Given the description of an element on the screen output the (x, y) to click on. 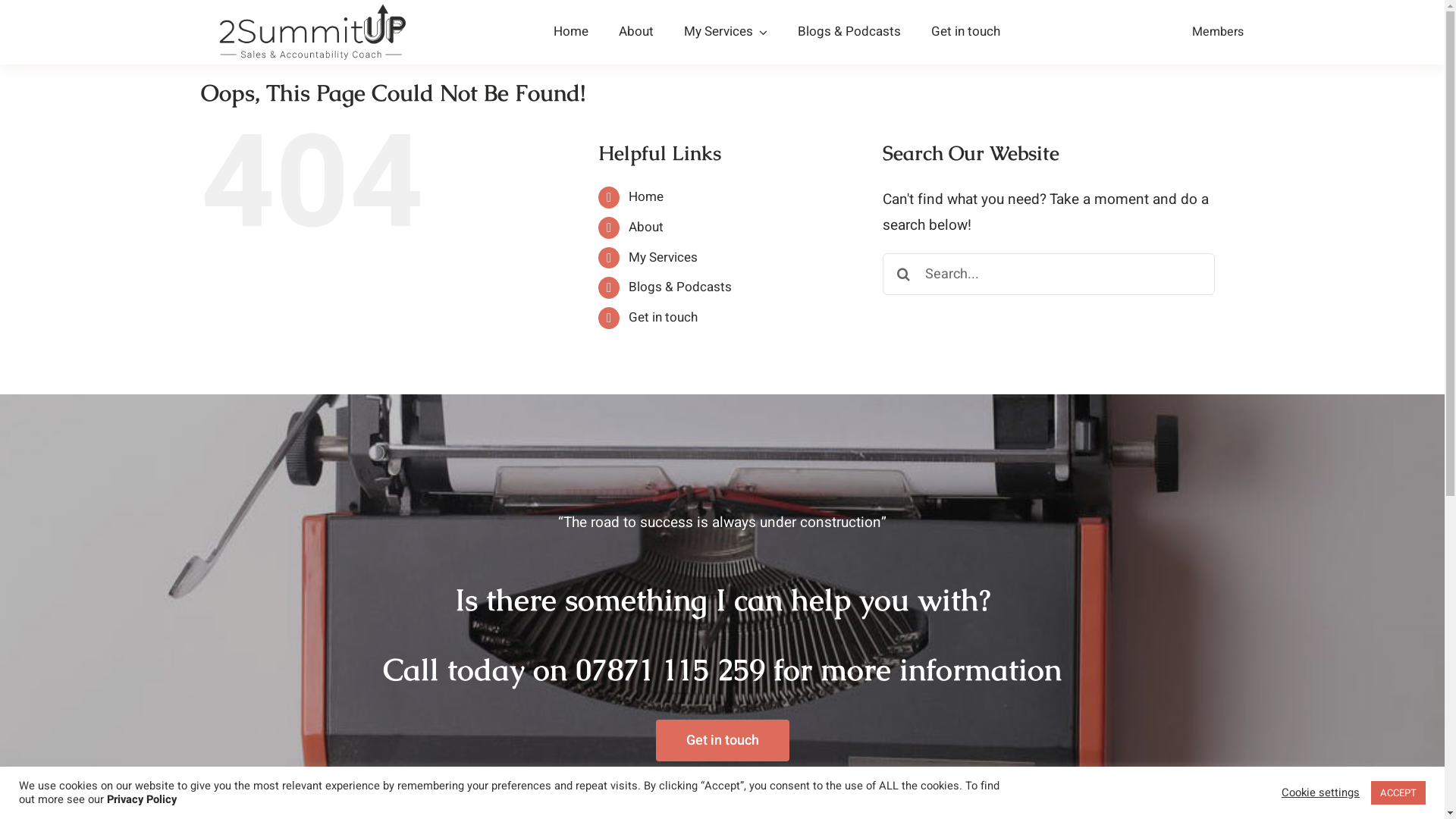
My Services Element type: text (725, 31)
About Element type: text (645, 226)
Home Element type: text (570, 31)
Cookie settings Element type: text (1320, 792)
Members Element type: text (1217, 32)
ACCEPT Element type: text (1398, 792)
Home Element type: text (645, 196)
Get in touch Element type: text (721, 740)
Get in touch Element type: text (662, 316)
Privacy Policy Element type: text (141, 799)
My Services Element type: text (662, 256)
Blogs & Podcasts Element type: text (849, 31)
Get in touch Element type: text (965, 31)
Blogs & Podcasts Element type: text (679, 286)
About Element type: text (635, 31)
